Given the description of an element on the screen output the (x, y) to click on. 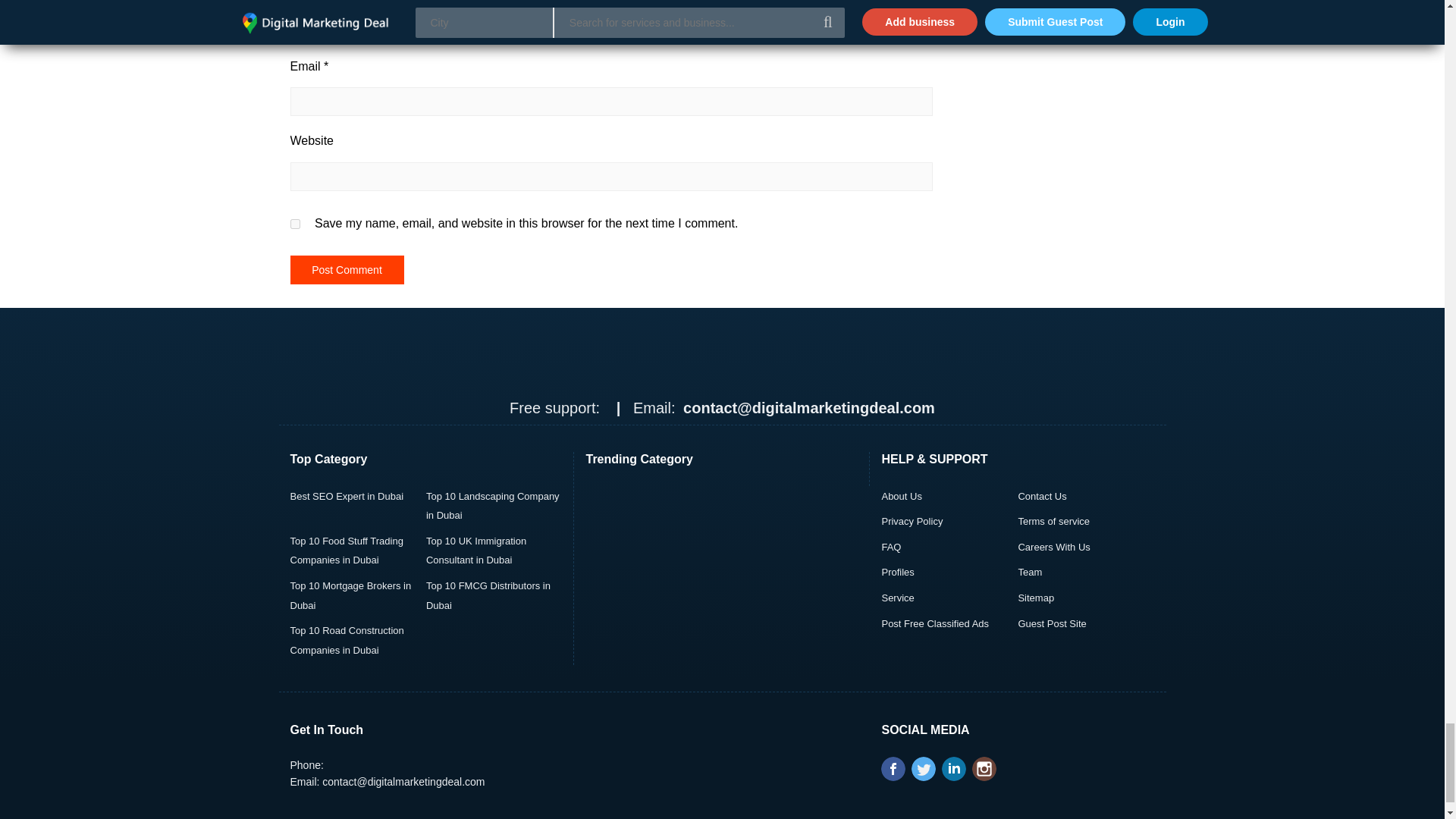
yes (294, 224)
Post Comment (346, 269)
